Given the description of an element on the screen output the (x, y) to click on. 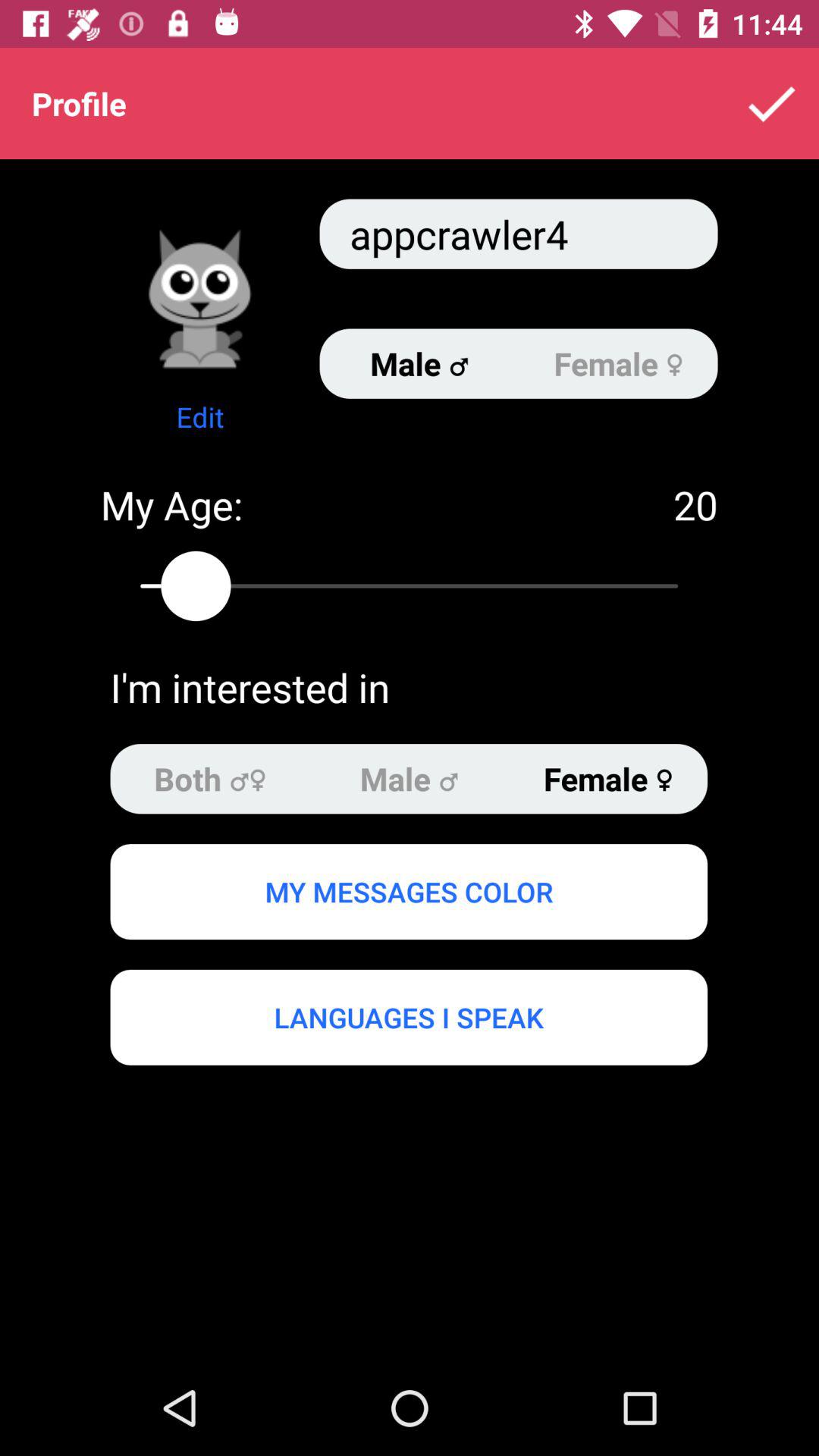
press app to the right of profile icon (771, 103)
